Given the description of an element on the screen output the (x, y) to click on. 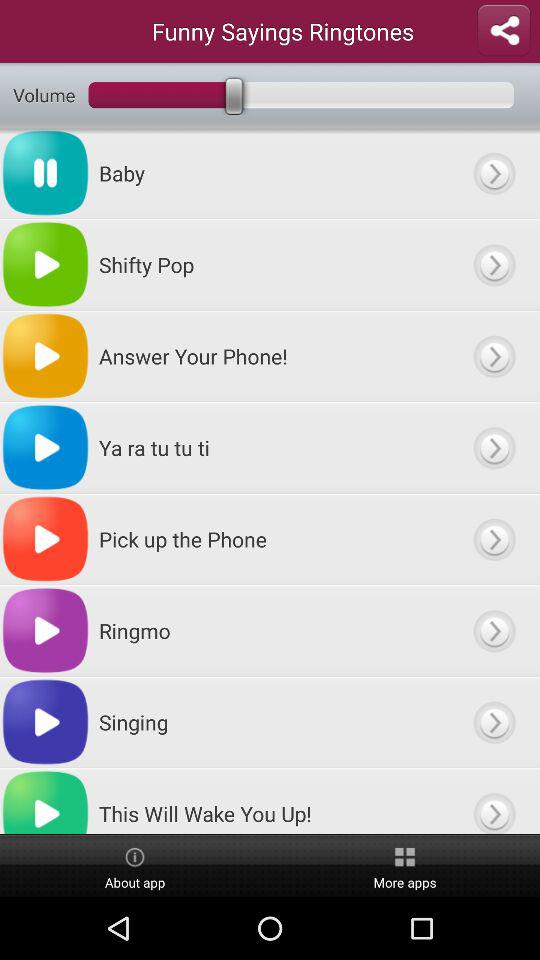
play ringtone (494, 264)
